Given the description of an element on the screen output the (x, y) to click on. 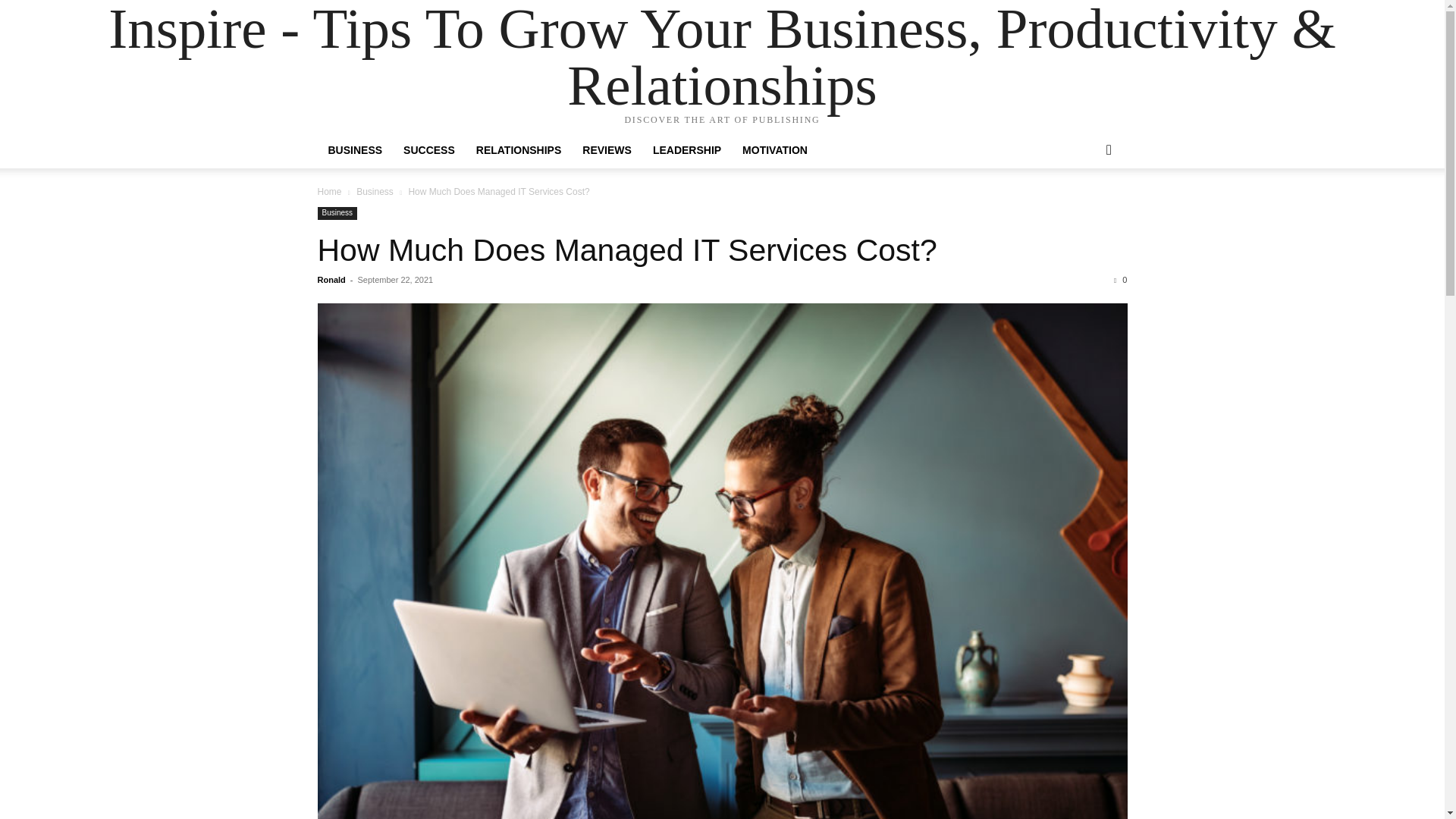
How Much Does Managed IT Services Cost? (626, 249)
LEADERSHIP (687, 150)
Business (374, 191)
REVIEWS (607, 150)
RELATIONSHIPS (518, 150)
Search (1085, 210)
SUCCESS (429, 150)
How Much Does Managed IT Services Cost? (626, 249)
Home (328, 191)
MOTIVATION (775, 150)
View all posts in Business (374, 191)
0 (1119, 279)
BUSINESS (355, 150)
Business (336, 213)
